Given the description of an element on the screen output the (x, y) to click on. 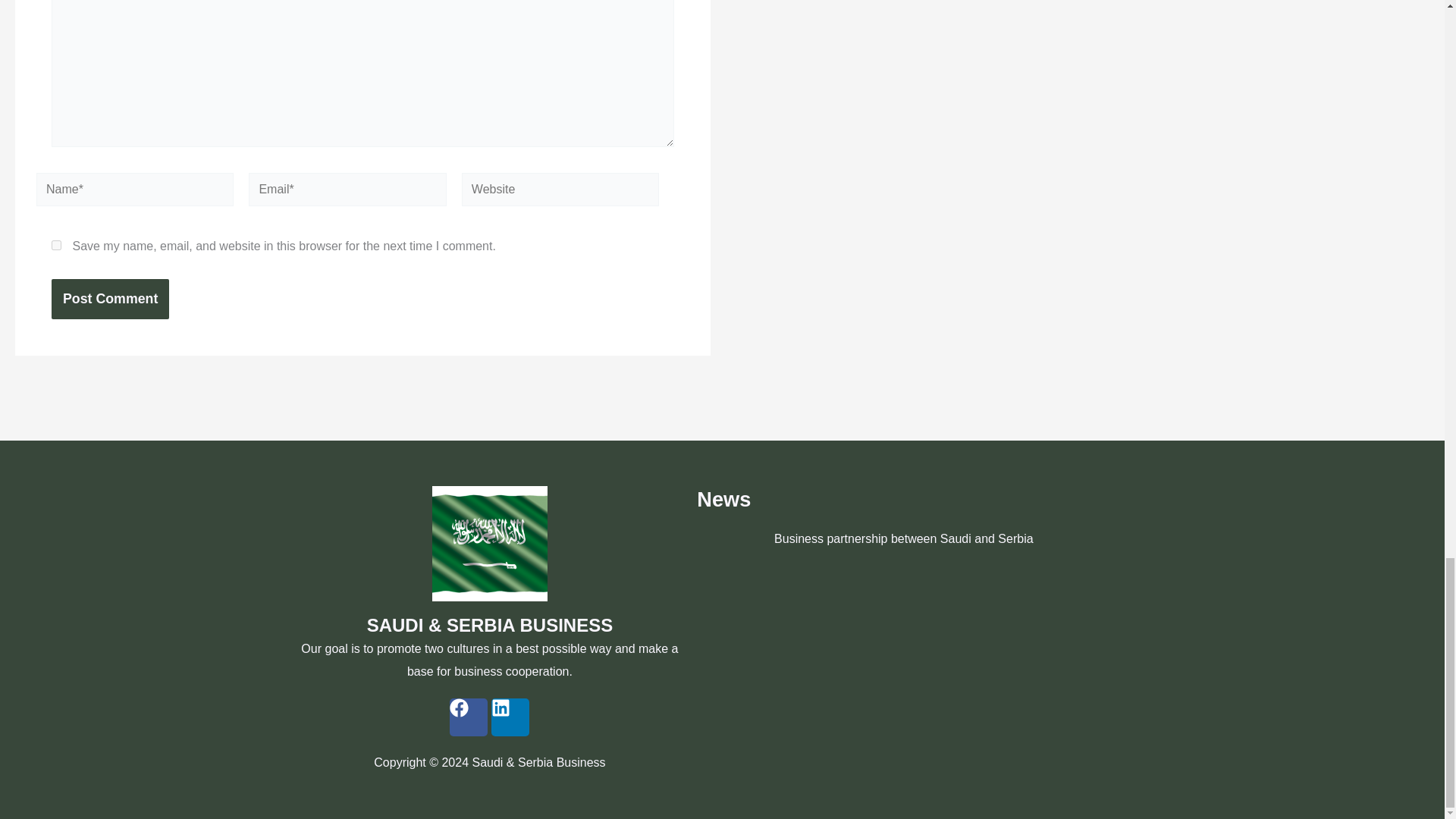
Linkedin (510, 717)
Facebook (468, 717)
yes (55, 245)
Post Comment (109, 298)
Post Comment (109, 298)
